Given the description of an element on the screen output the (x, y) to click on. 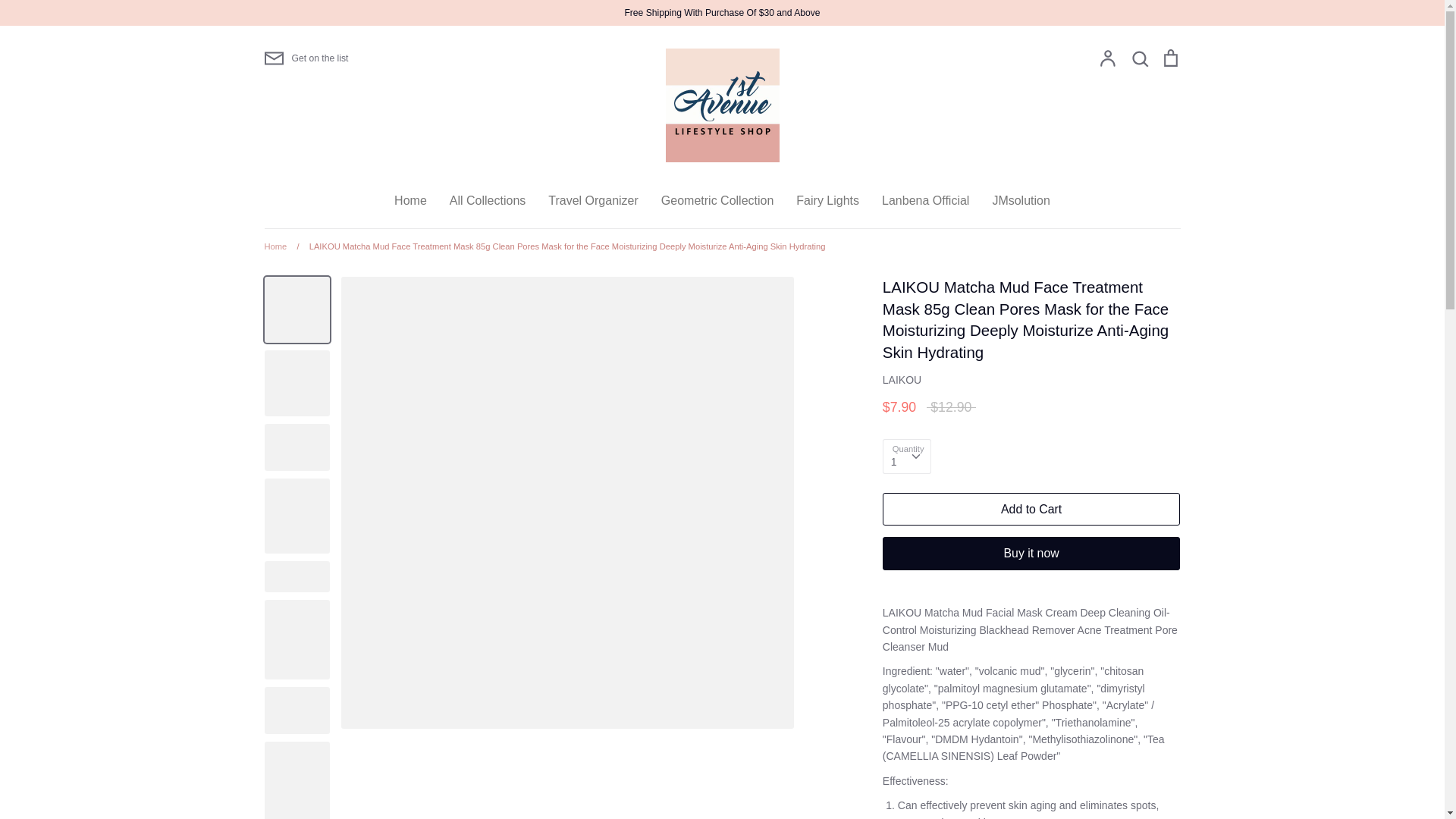
Fairy Lights Element type: text (827, 200)
Cart Element type: text (1169, 58)
Travel Organizer Element type: text (593, 200)
Search Element type: text (1139, 58)
All Collections Element type: text (487, 200)
Lanbena Official Element type: text (925, 200)
Geometric Collection Element type: text (717, 200)
LAIKOU Element type: text (901, 379)
Get on the list Element type: text (305, 58)
JMsolution Element type: text (1020, 200)
Add to Cart Element type: text (1031, 509)
Home Element type: text (274, 246)
Buy it now Element type: text (1031, 553)
Account Element type: text (1107, 58)
Home Element type: text (410, 200)
